Given the description of an element on the screen output the (x, y) to click on. 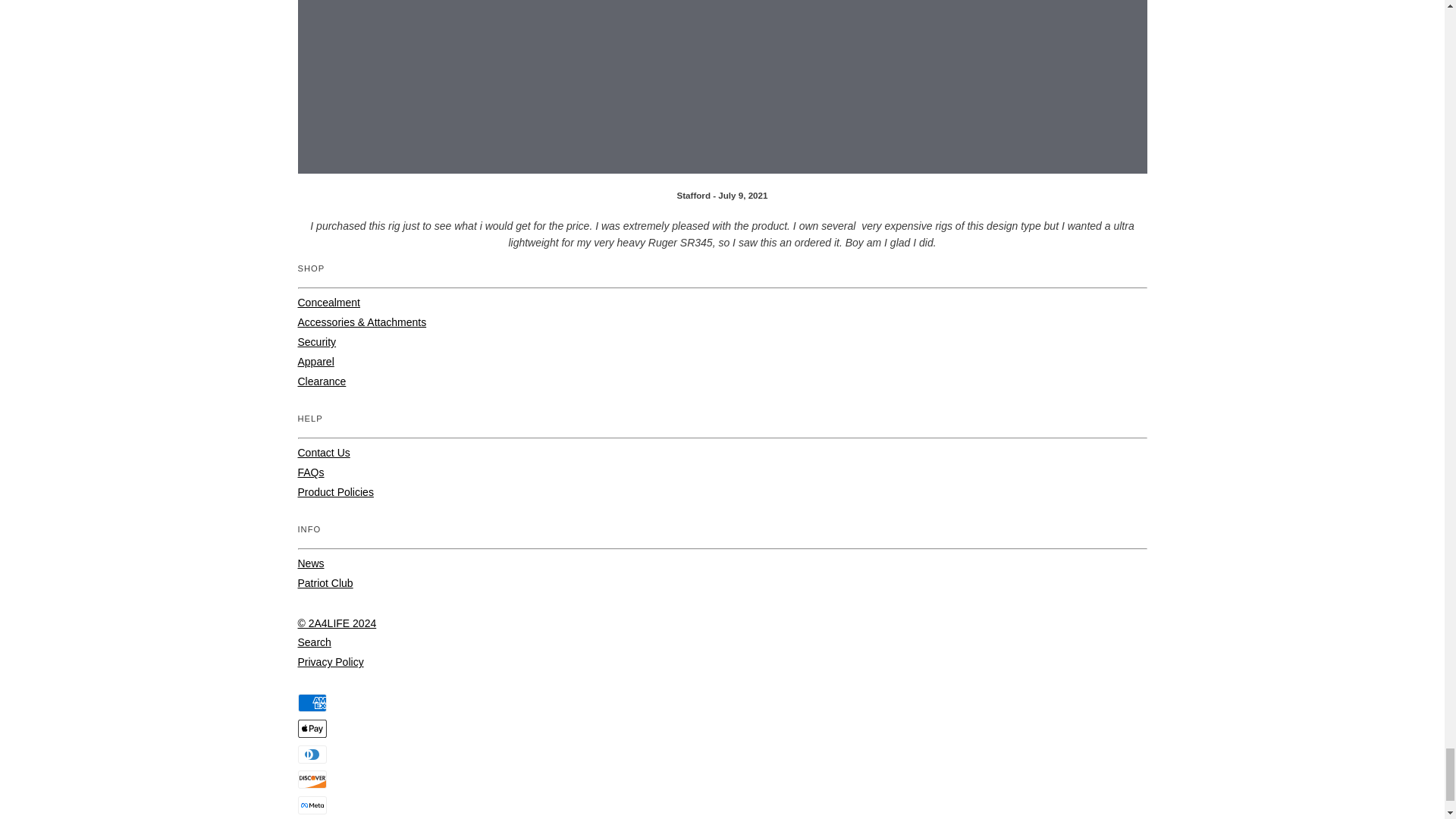
Discover (311, 779)
Diners Club (311, 754)
American Express (311, 702)
Apple Pay (311, 728)
Meta Pay (311, 805)
